Given the description of an element on the screen output the (x, y) to click on. 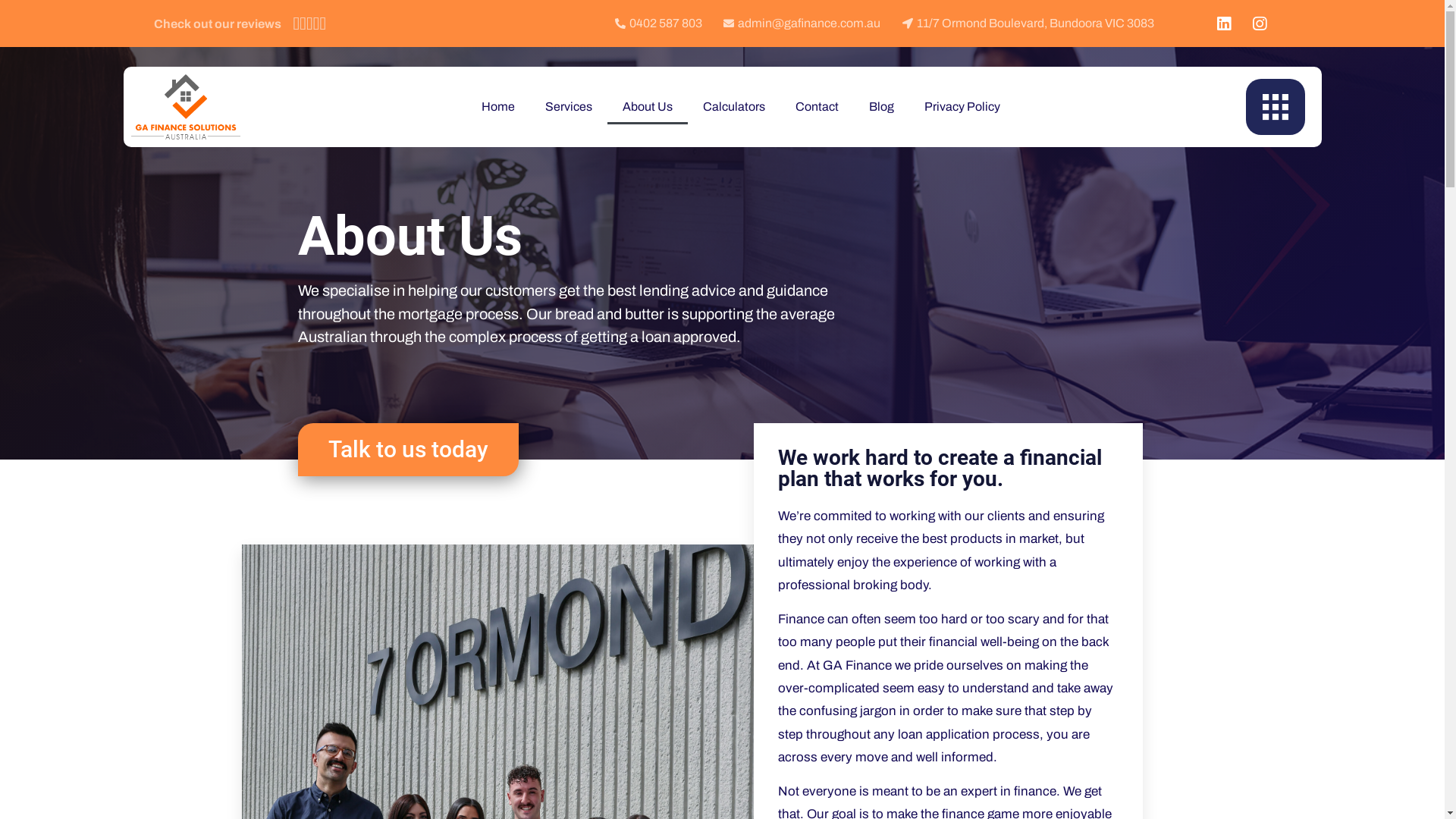
admin@gafinance.com.au Element type: text (801, 23)
Calculators Element type: text (733, 106)
Talk to us today Element type: text (407, 449)
Check out our reviews Element type: text (216, 23)
Services Element type: text (568, 106)
About Us Element type: text (647, 106)
Home Element type: text (498, 106)
Blog Element type: text (881, 106)
Privacy Policy Element type: text (962, 106)
0402 587 803 Element type: text (656, 23)
11/7 Ormond Boulevard, Bundoora VIC 3083 Element type: text (1026, 23)
Contact Element type: text (816, 106)
